Given the description of an element on the screen output the (x, y) to click on. 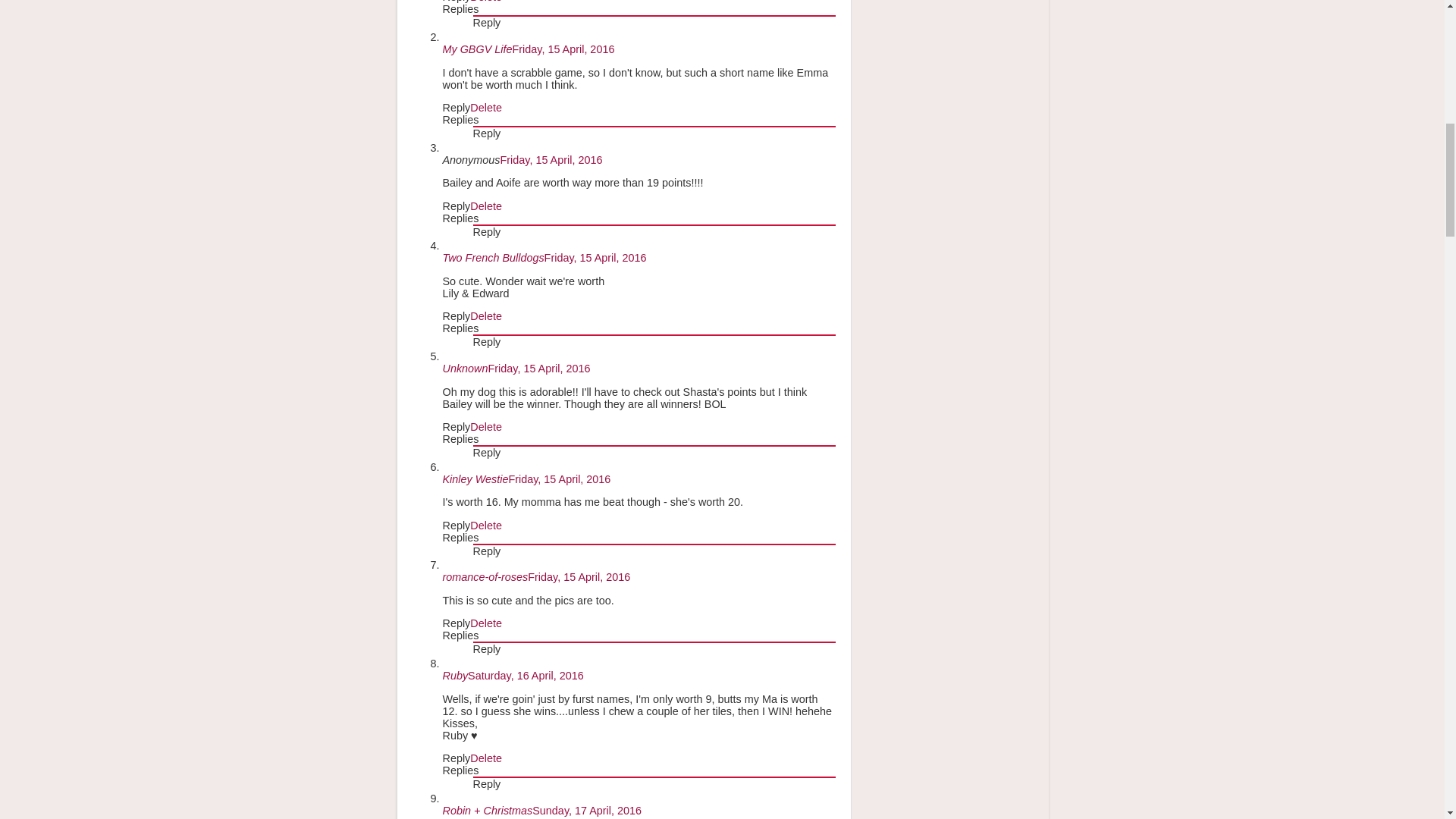
Delete (486, 1)
Reply (456, 107)
Delete (486, 107)
Reply (486, 22)
Reply (456, 1)
Replies (460, 218)
Replies (460, 9)
Friday, 15 April, 2016 (551, 159)
Friday, 15 April, 2016 (563, 49)
My GBGV Life (477, 49)
Delete (486, 205)
Reply (486, 232)
Reply (486, 133)
Replies (460, 119)
Reply (456, 205)
